Given the description of an element on the screen output the (x, y) to click on. 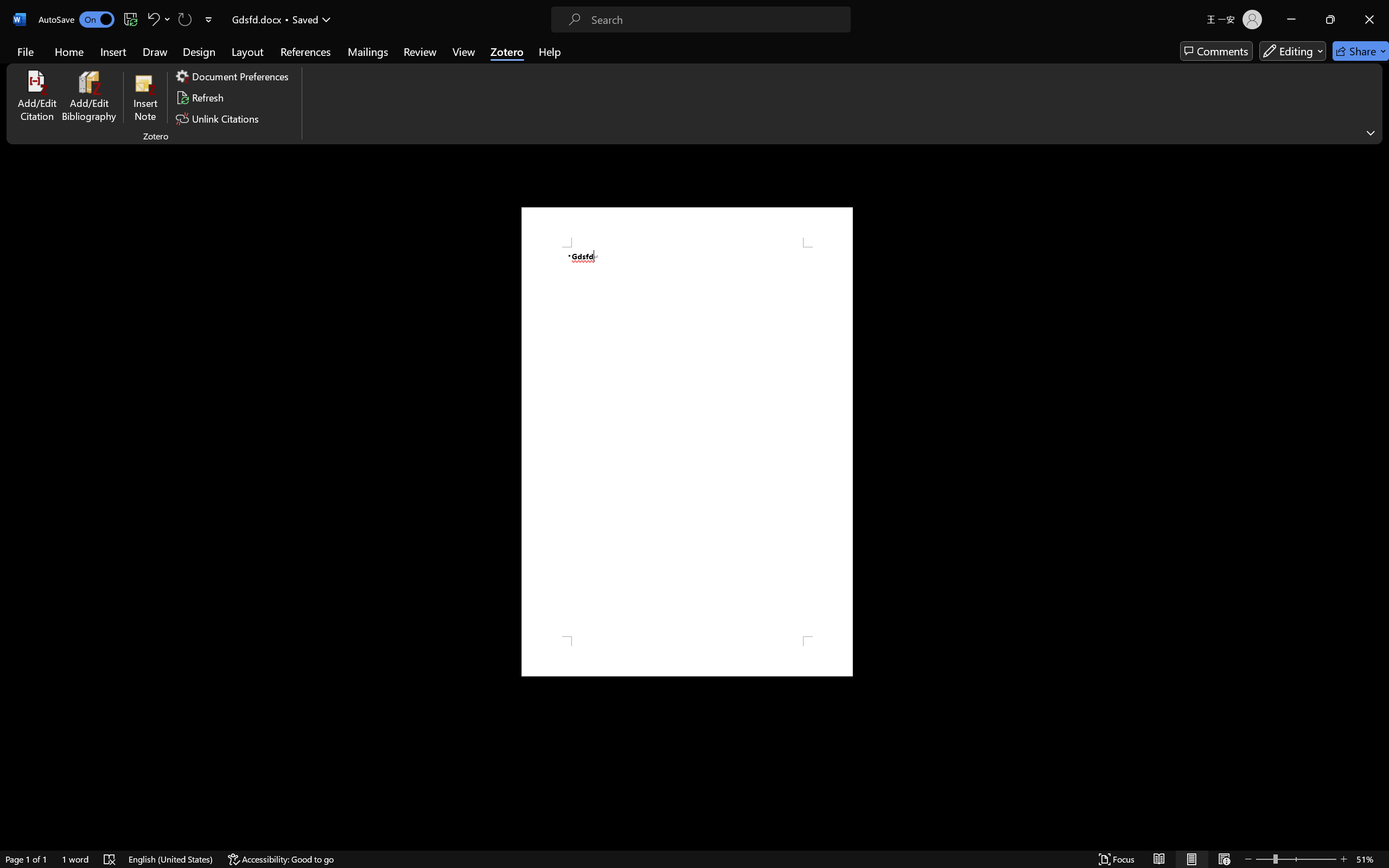
Page 1 content (686, 441)
